Given the description of an element on the screen output the (x, y) to click on. 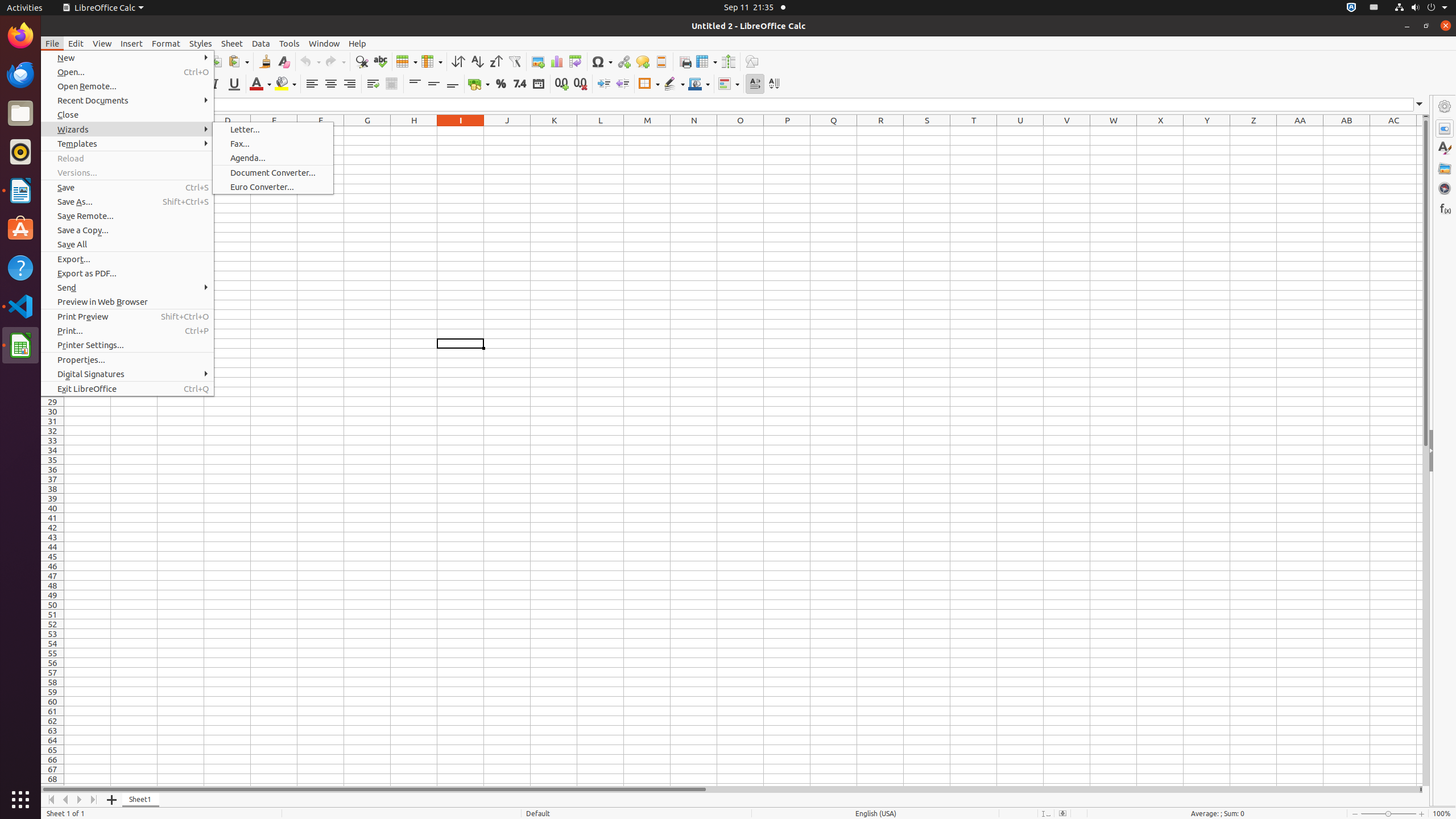
Activities Element type: label (24, 7)
LibreOffice Calc Element type: menu (102, 7)
Format Element type: menu (165, 43)
Text direction from top to bottom Element type: toggle-button (773, 83)
